Given the description of an element on the screen output the (x, y) to click on. 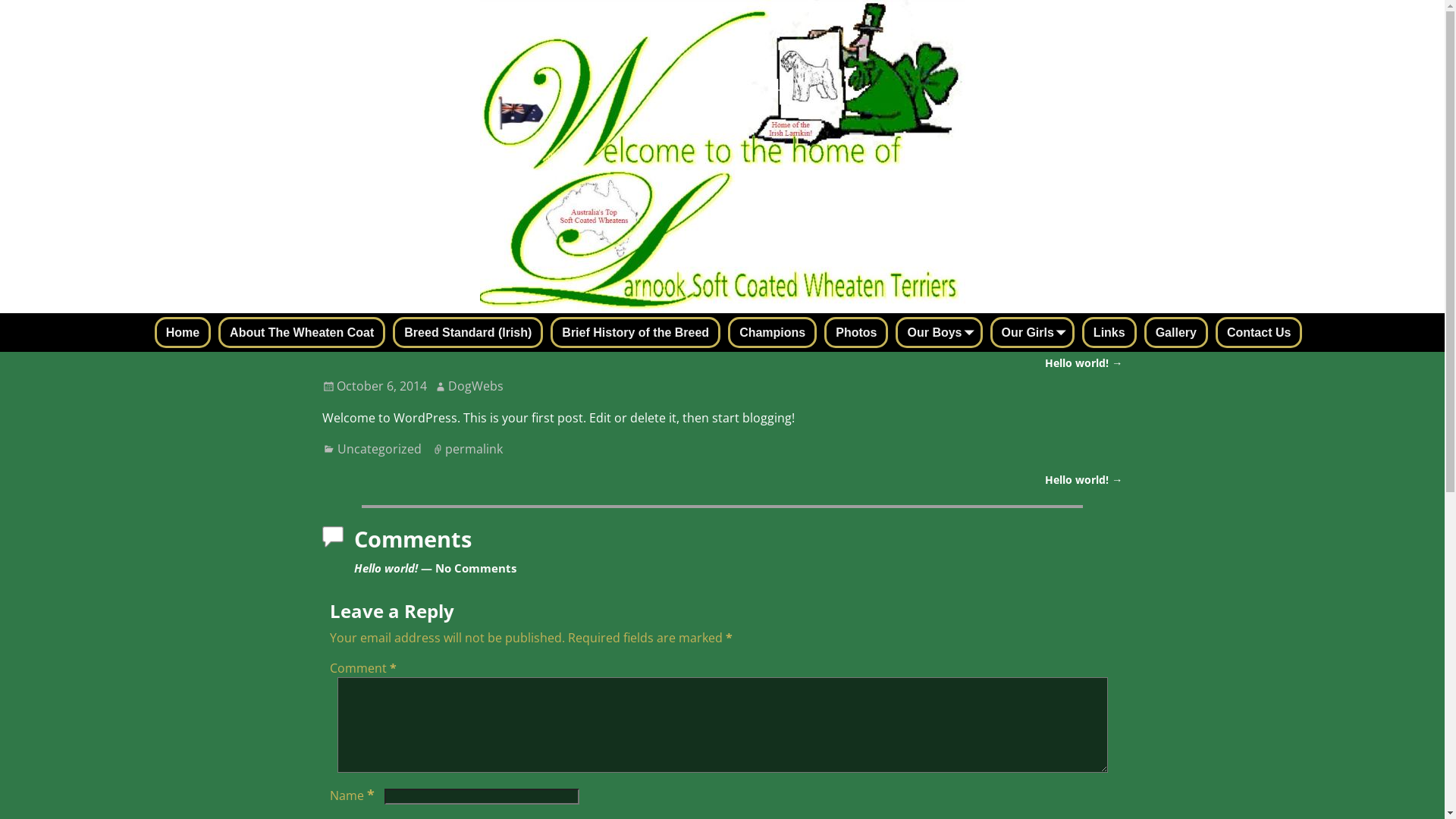
Links Element type: text (1109, 332)
Breed Standard (Irish) Element type: text (467, 332)
Contact Us Element type: text (1258, 332)
DogWebs Element type: text (475, 385)
Gallery Element type: text (1176, 332)
About The Wheaten Coat Element type: text (301, 332)
Champions Element type: text (772, 332)
Our Girls Element type: text (1032, 332)
Uncategorized Element type: text (379, 448)
permalink Element type: text (473, 448)
Photos Element type: text (856, 332)
October 6, 2014 Element type: text (373, 385)
Home Element type: text (182, 332)
Our Boys Element type: text (938, 332)
Brief History of the Breed Element type: text (635, 332)
